Given the description of an element on the screen output the (x, y) to click on. 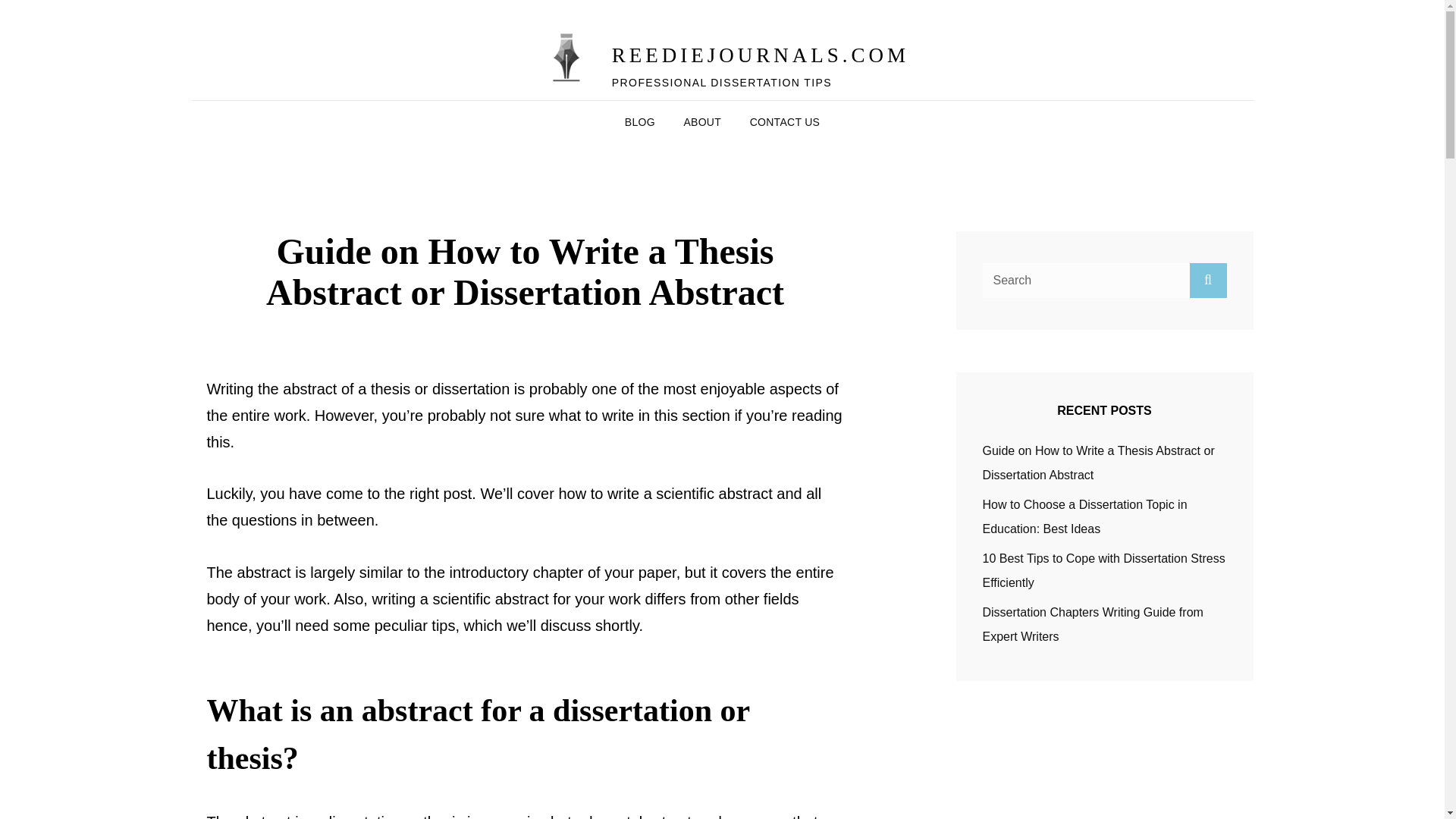
How to Choose a Dissertation Topic in Education: Best Ideas (1085, 516)
REEDIEJOURNALS.COM (759, 55)
ABOUT (702, 120)
Search (1207, 279)
CONTACT US (785, 120)
Dissertation Chapters Writing Guide from Expert Writers (1093, 624)
10 Best Tips to Cope with Dissertation Stress Efficiently (1103, 570)
BLOG (639, 120)
